Given the description of an element on the screen output the (x, y) to click on. 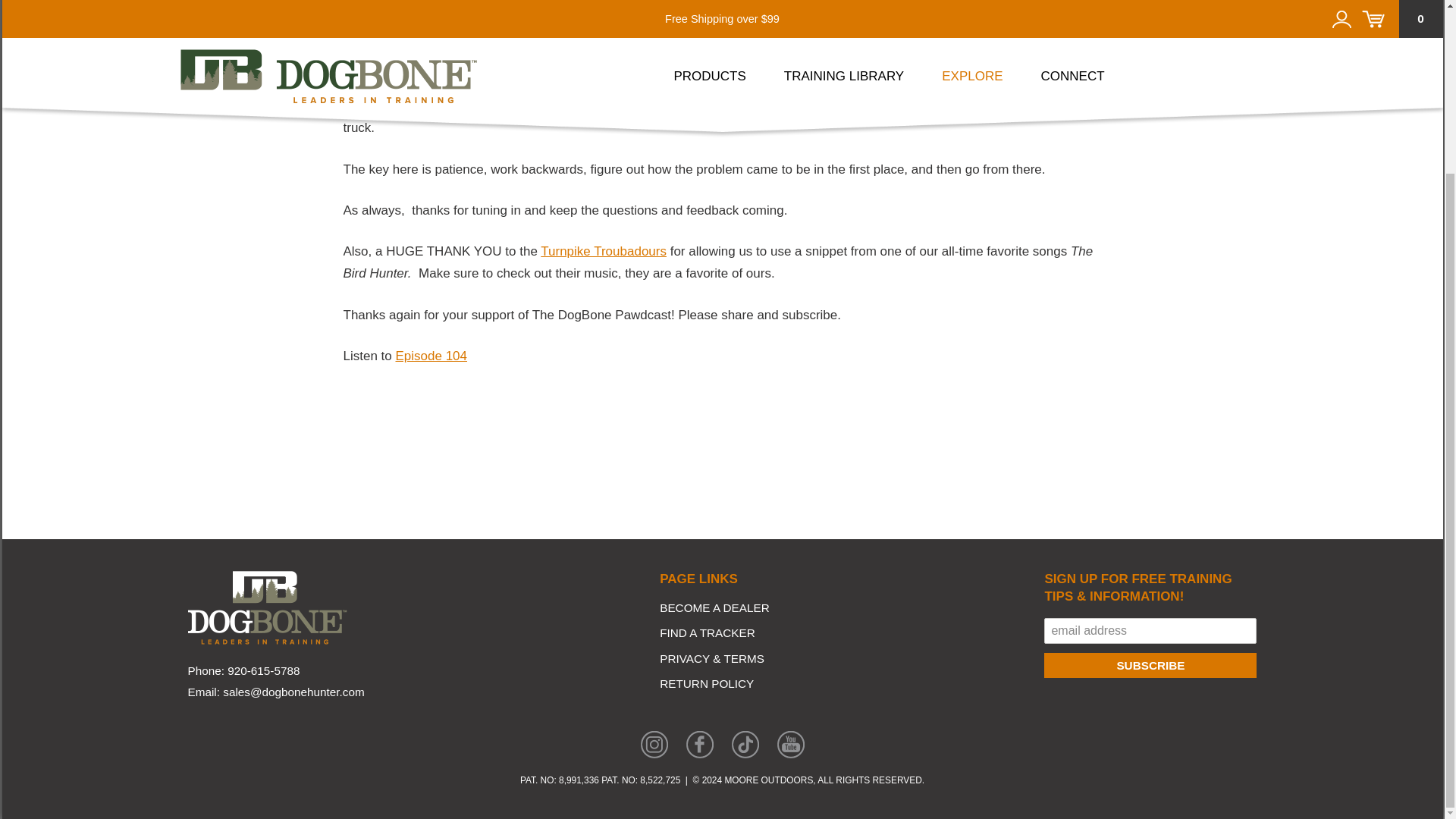
my dog is scared of everything (431, 355)
Subscribe (1149, 665)
